Given the description of an element on the screen output the (x, y) to click on. 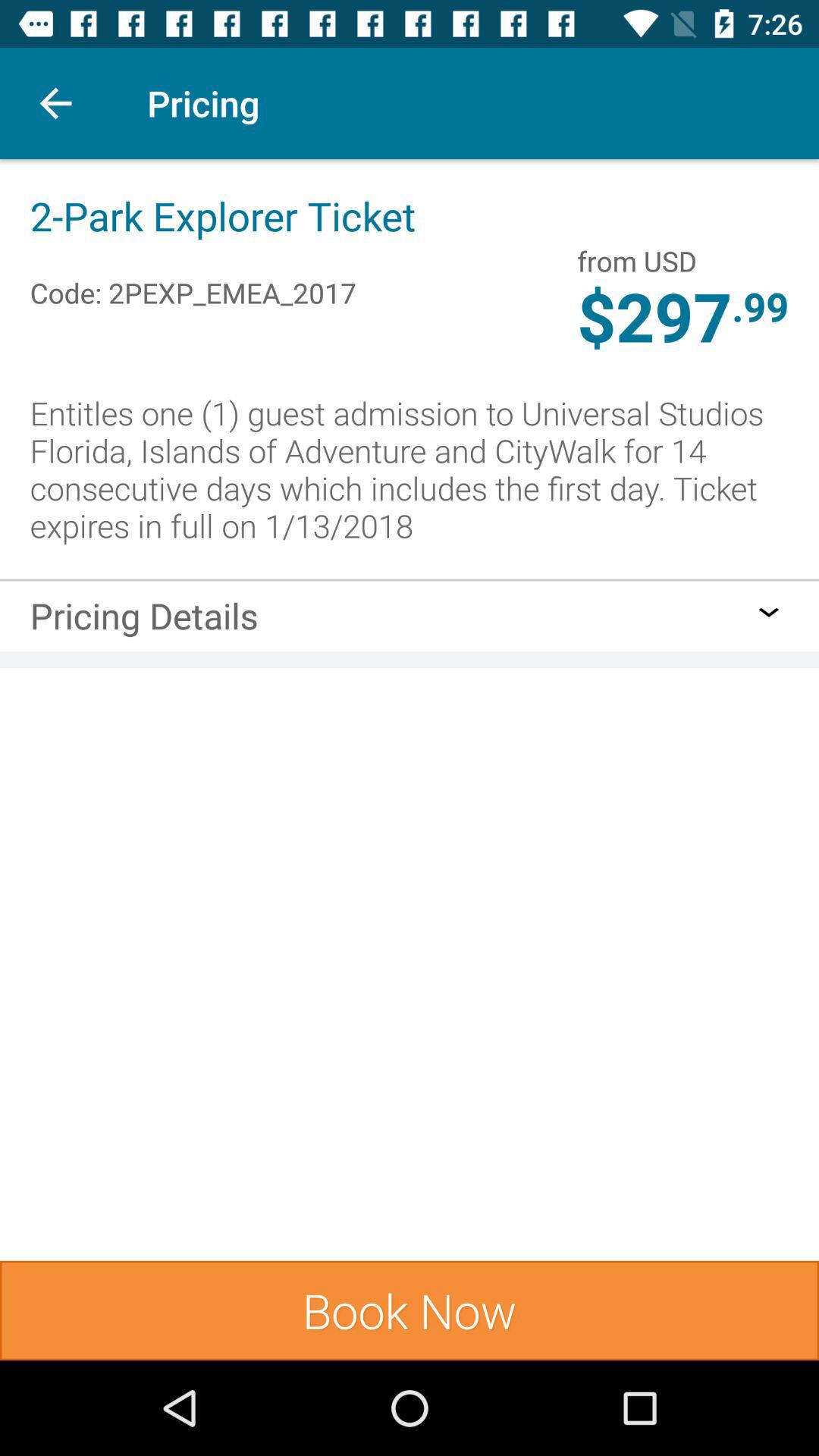
open icon to the right of the pricing details item (768, 612)
